Given the description of an element on the screen output the (x, y) to click on. 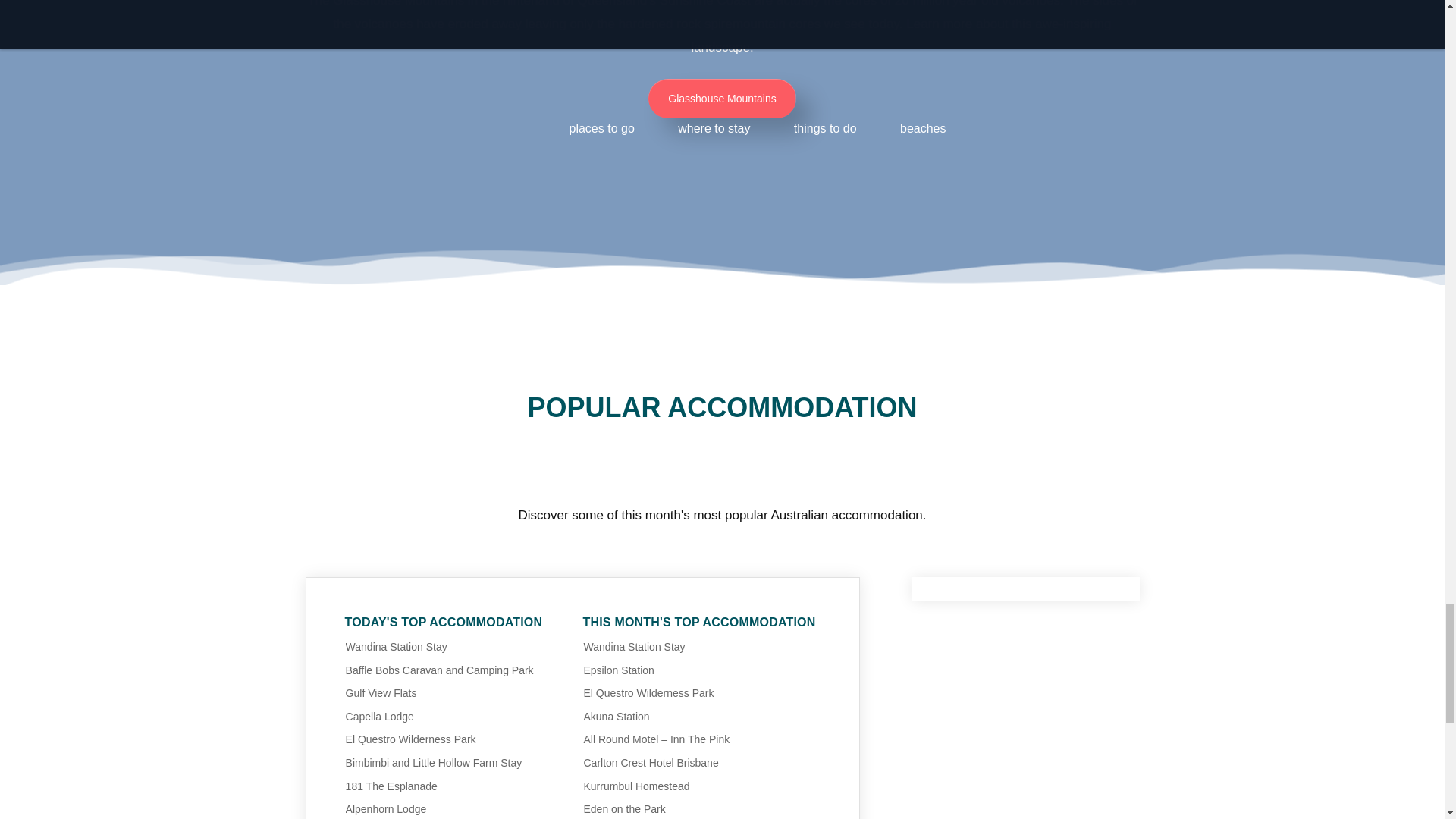
Baffle Bobs Caravan and Camping Park (440, 670)
Wandina Station Stay (396, 646)
Glasshouse Mountains (720, 97)
